Given the description of an element on the screen output the (x, y) to click on. 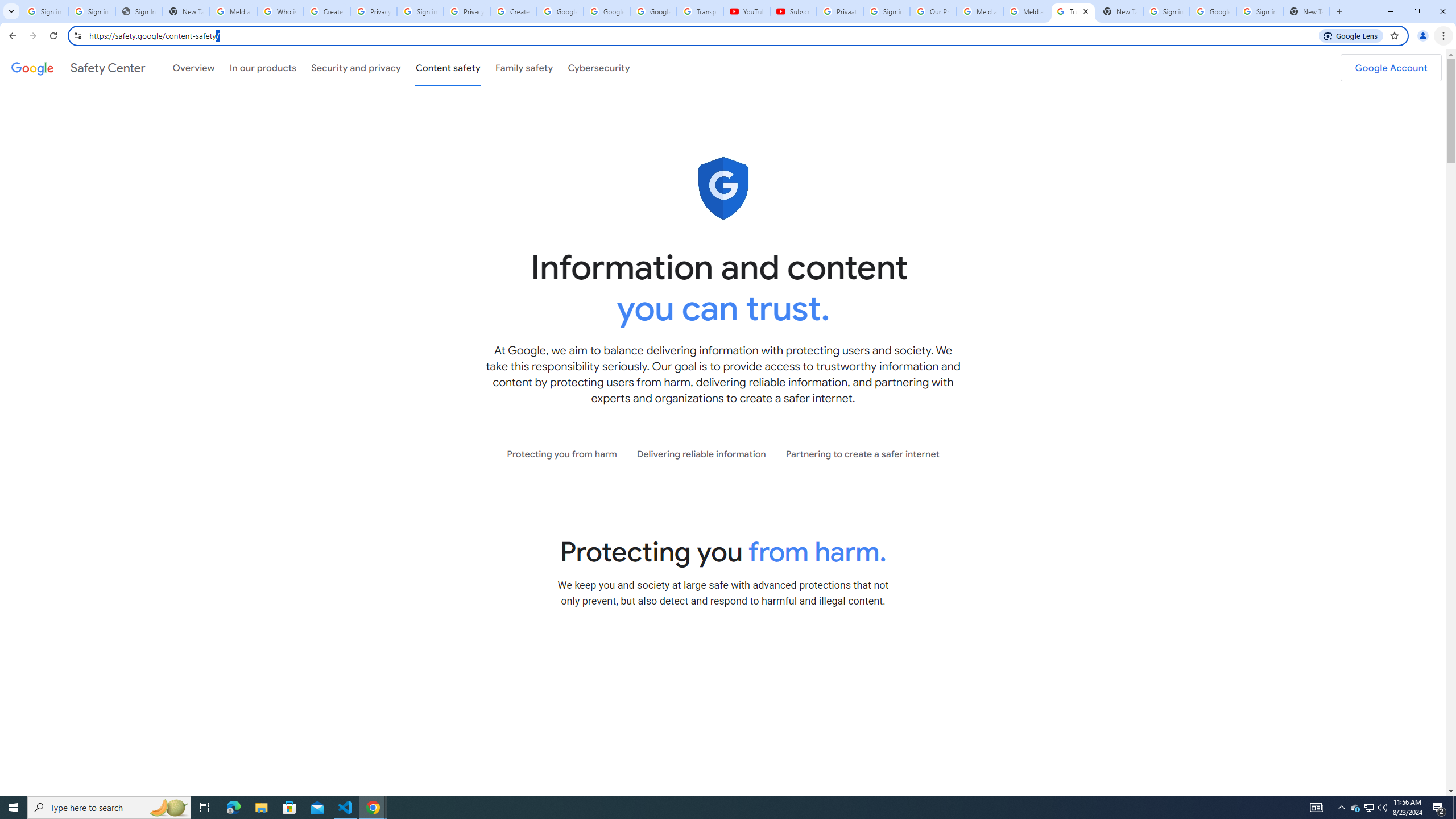
In our products (262, 67)
Expand All (988, 653)
Cybersecurity (598, 67)
Safety Center (78, 67)
Trusted Information and Content - Google Safety Center (1073, 11)
Who is my administrator? - Google Account Help (279, 11)
Google Account (652, 11)
Subscriptions - YouTube (792, 11)
